Given the description of an element on the screen output the (x, y) to click on. 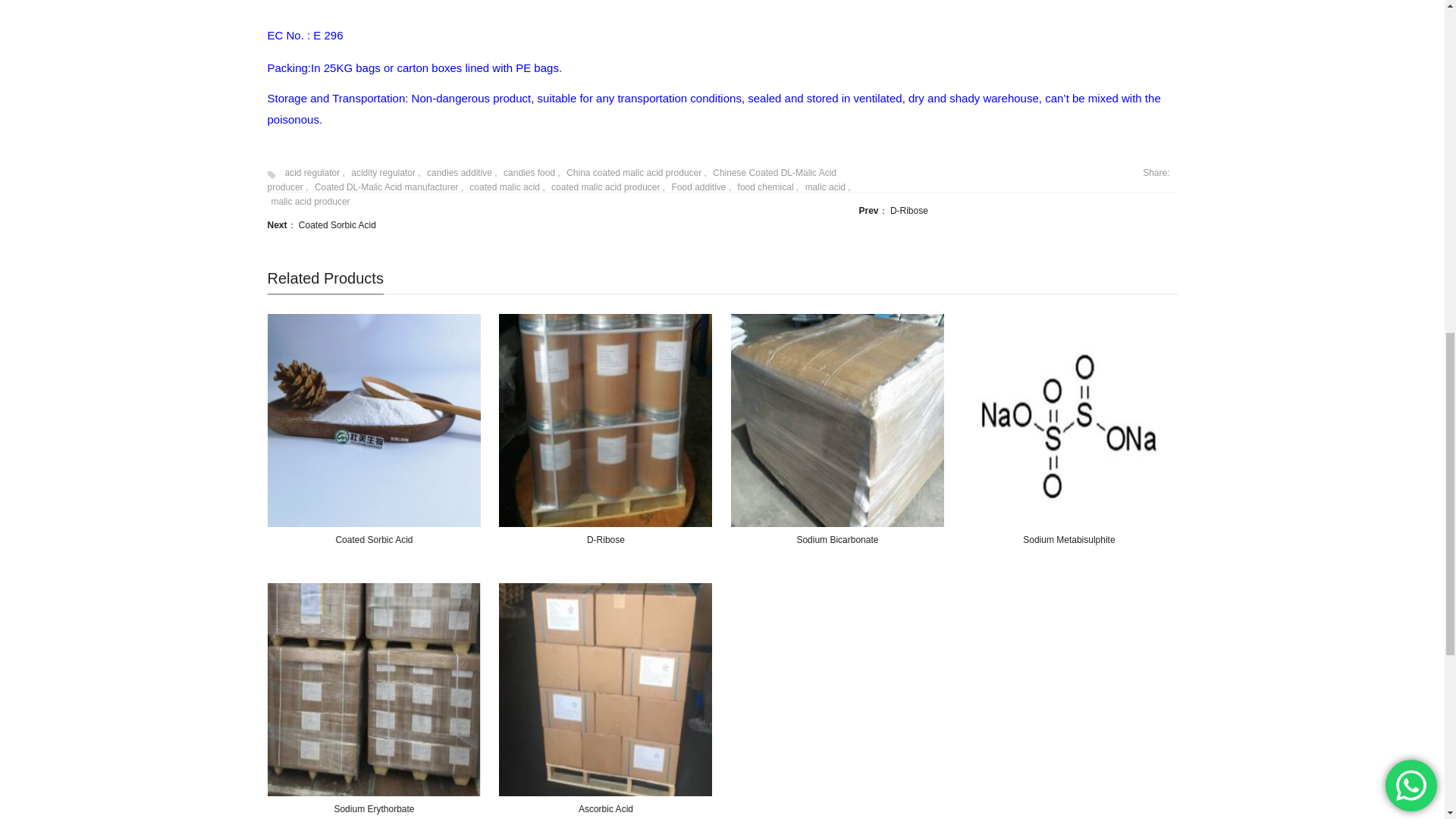
Coated Sorbic Acid (373, 420)
Sodium Bicarbonate (836, 420)
Sodium Metabisulphite (1068, 420)
D-Ribose (605, 420)
Ascorbic Acid (605, 689)
Sodium Erythorbate (373, 689)
